Given the description of an element on the screen output the (x, y) to click on. 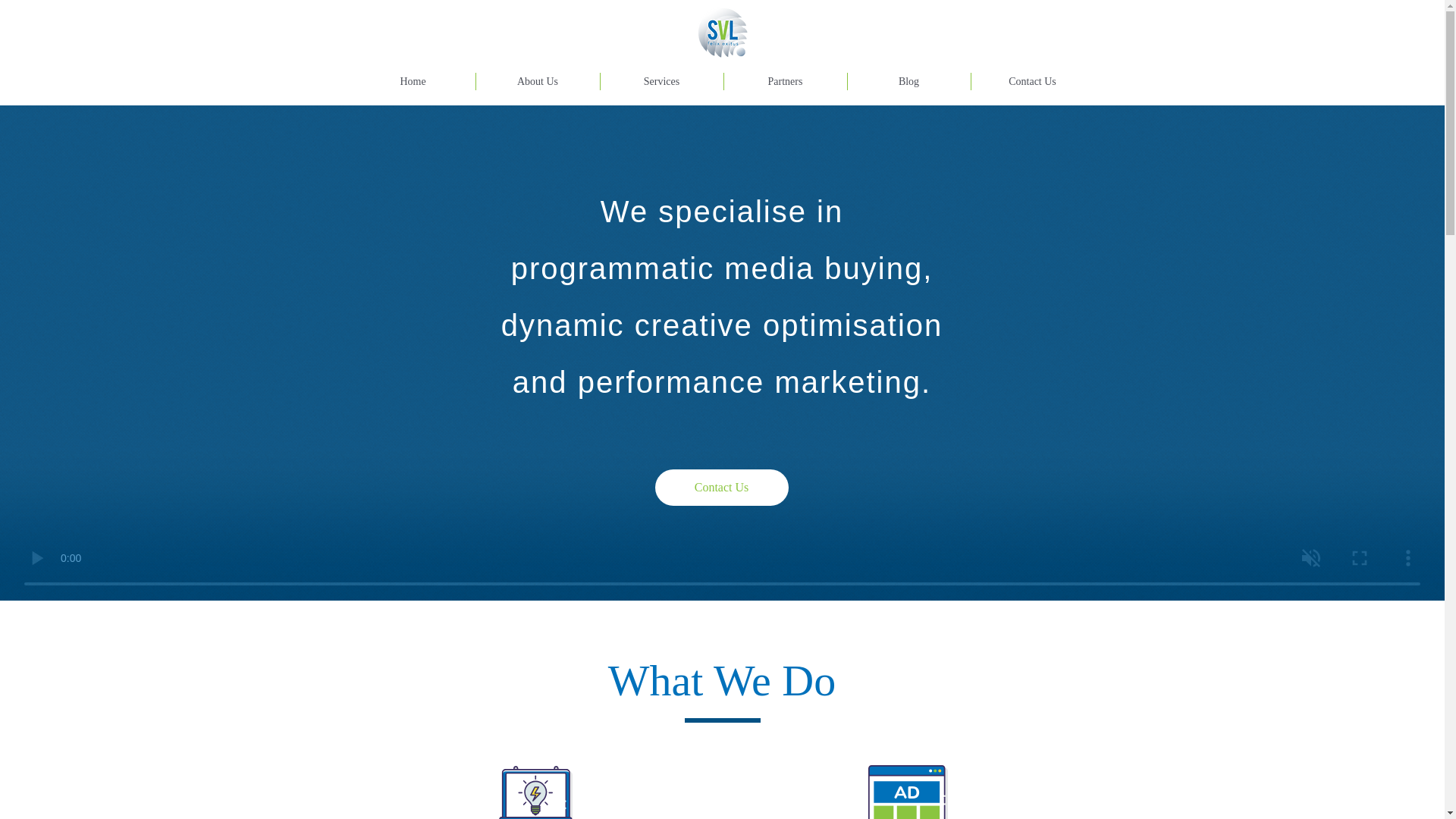
Contact Us (722, 487)
Contact Us (1032, 81)
About Us (537, 81)
Blog (909, 81)
Home (412, 81)
